Given the description of an element on the screen output the (x, y) to click on. 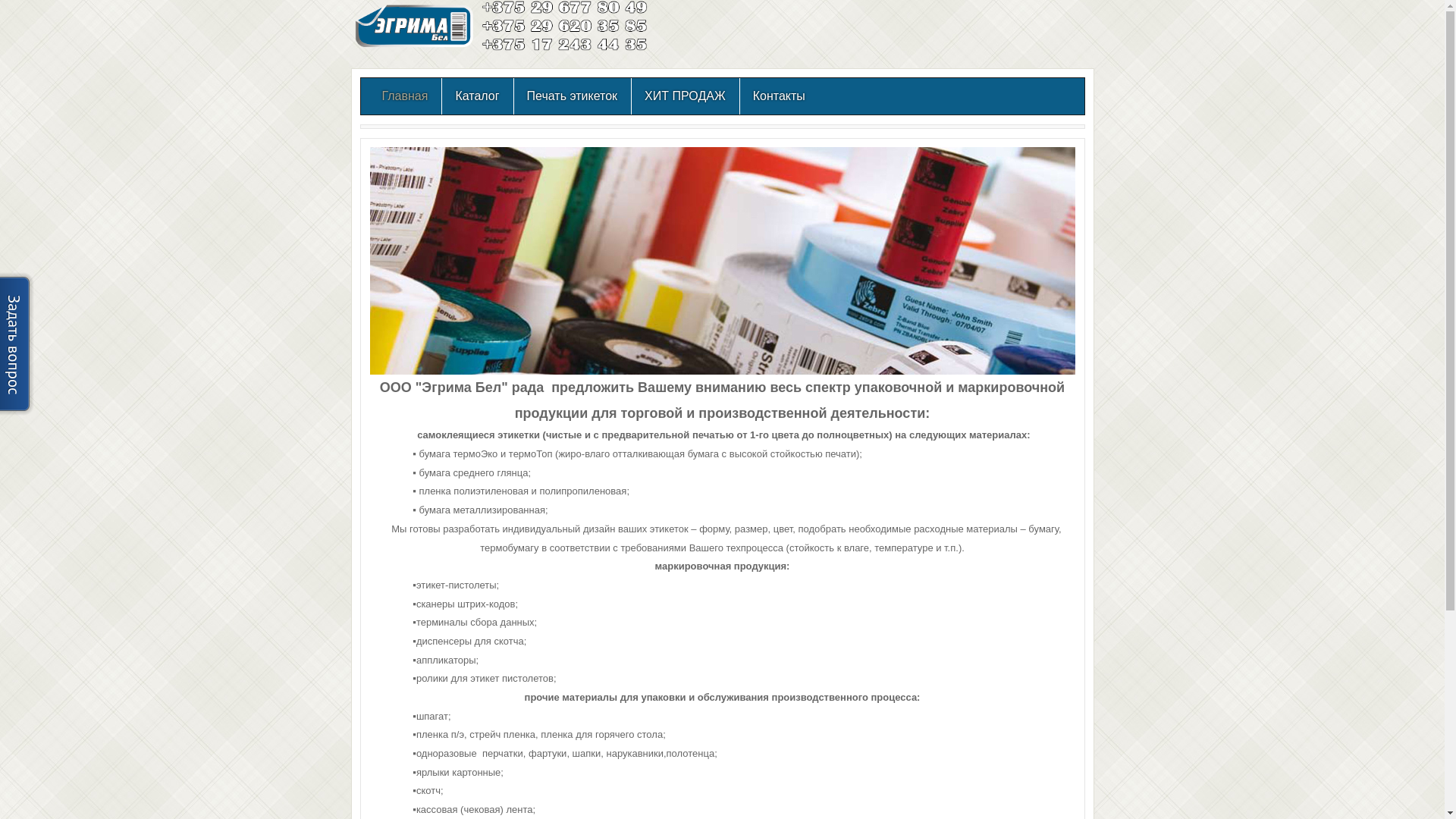
A Element type: text (1060, 136)
A+ Element type: text (1049, 136)
A- Element type: text (1070, 136)
